Given the description of an element on the screen output the (x, y) to click on. 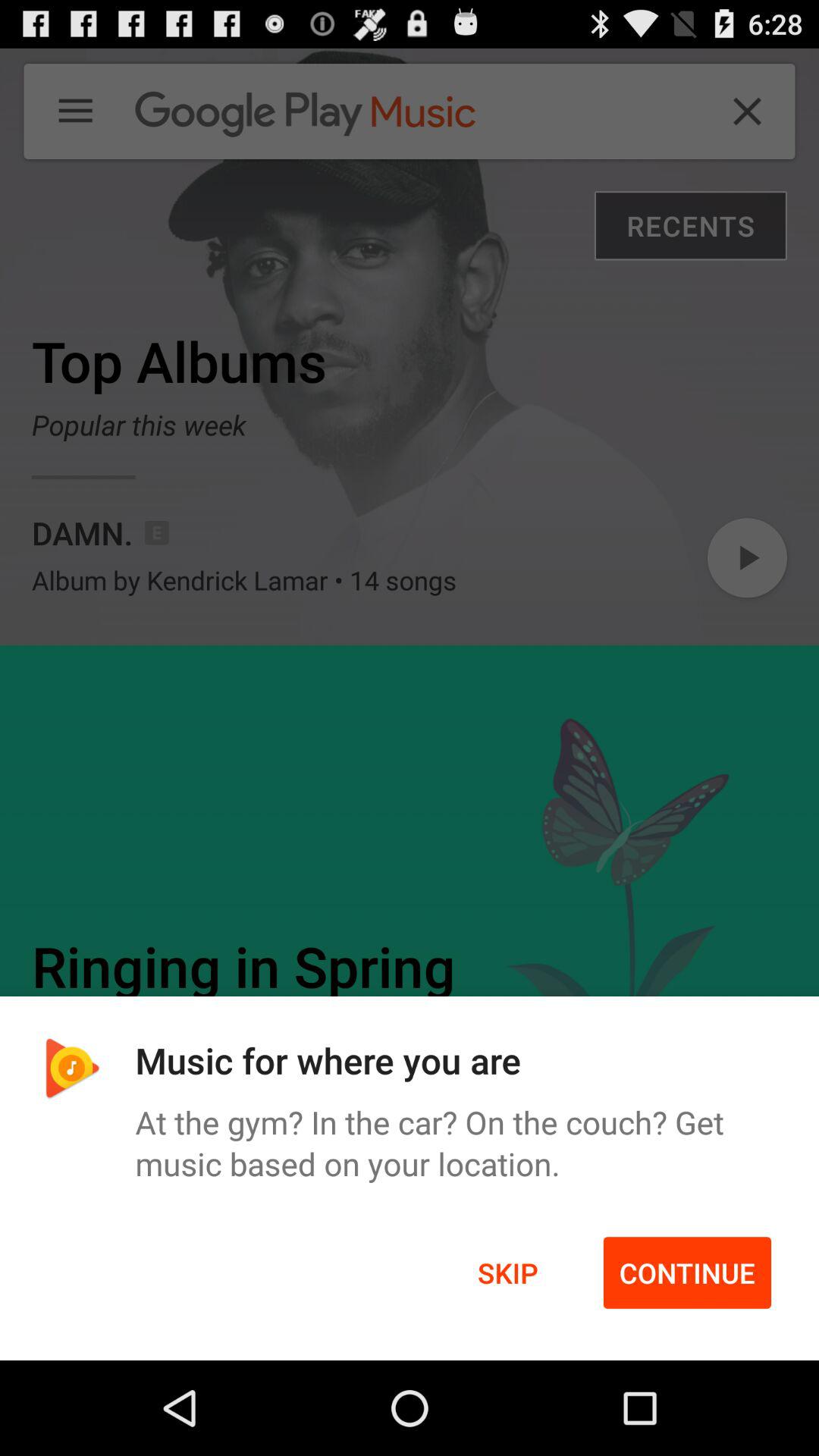
turn on icon to the left of continue icon (507, 1272)
